Given the description of an element on the screen output the (x, y) to click on. 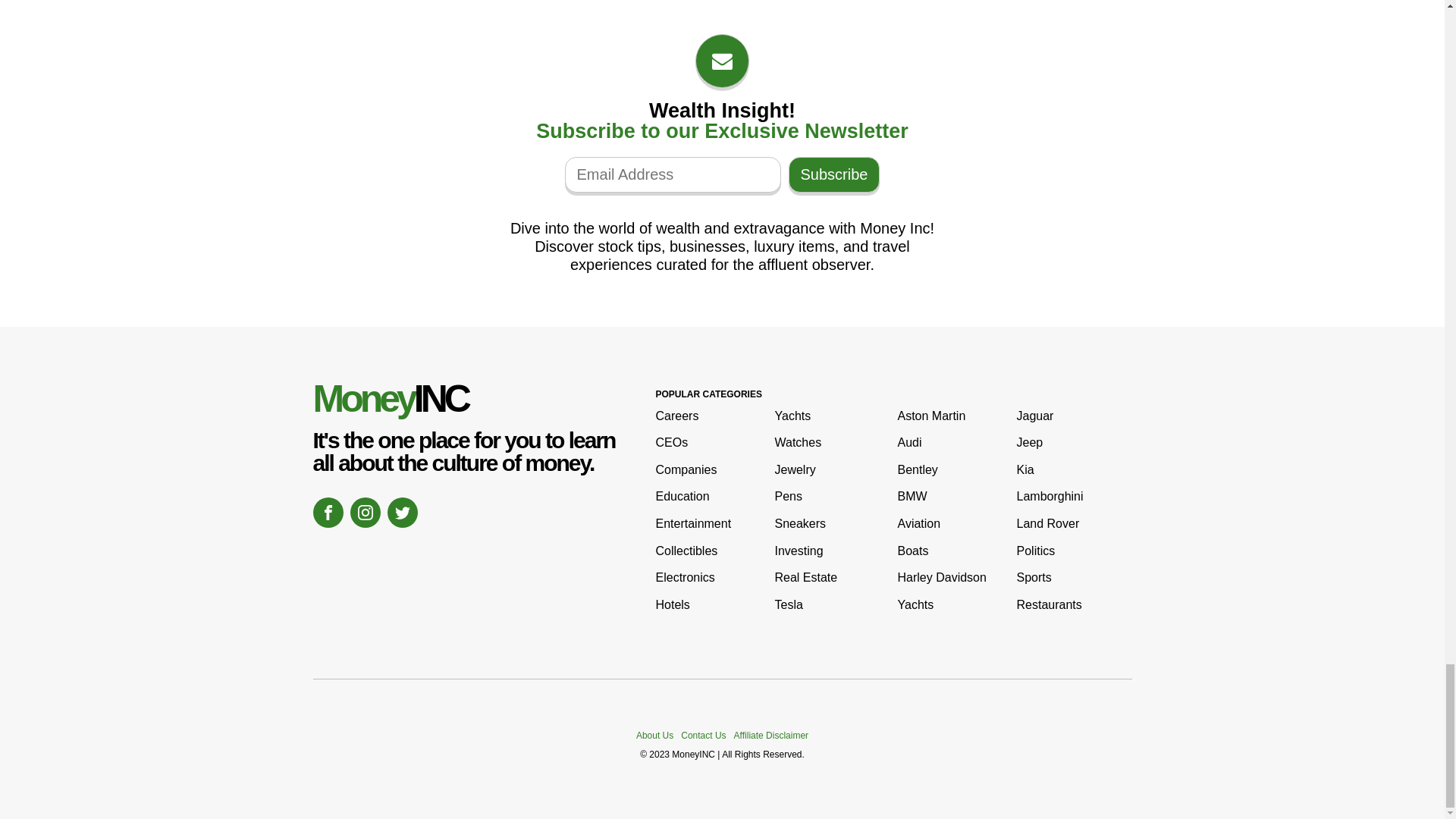
Subscribe (834, 174)
